Given the description of an element on the screen output the (x, y) to click on. 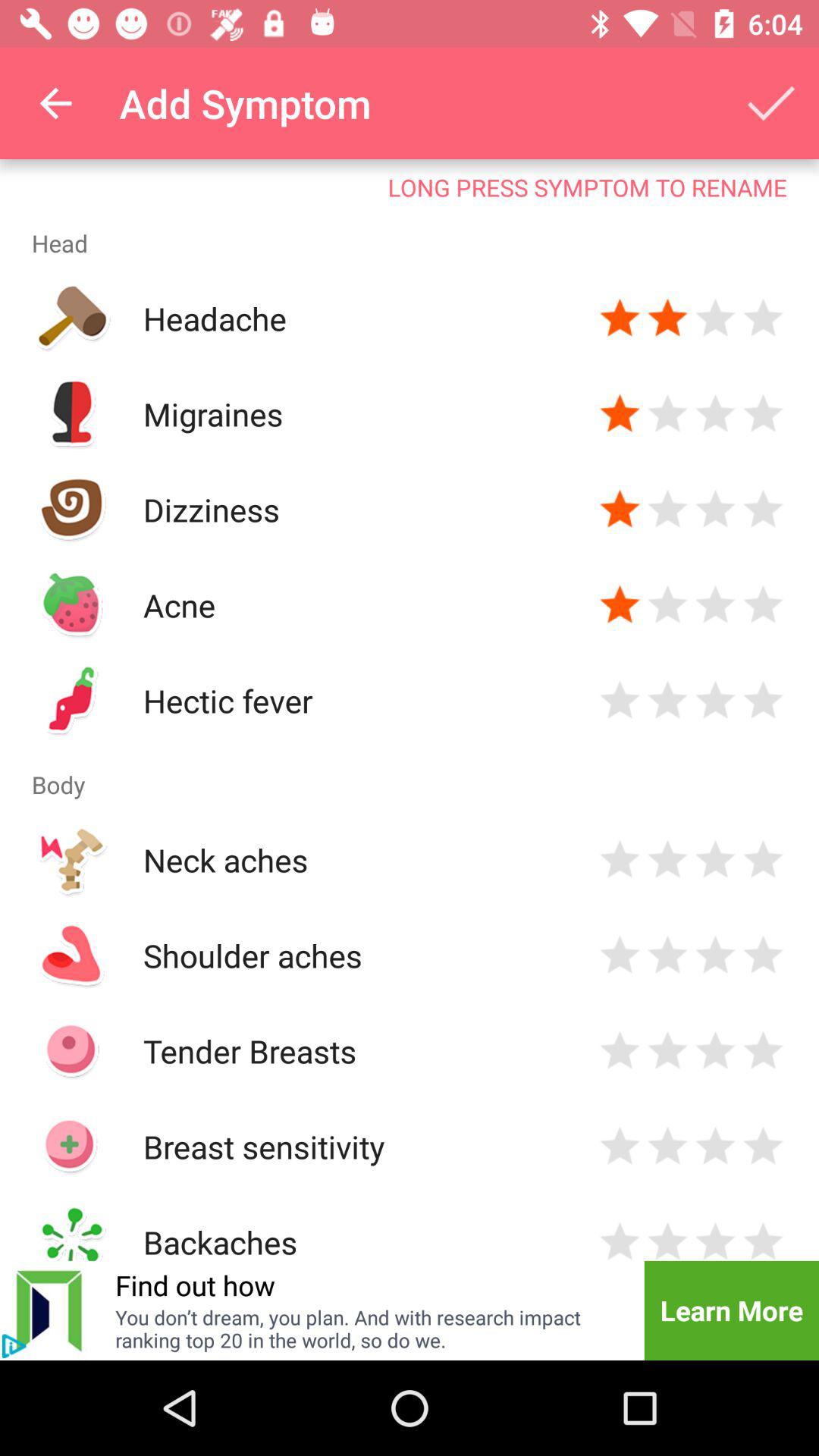
ratings (667, 605)
